Given the description of an element on the screen output the (x, y) to click on. 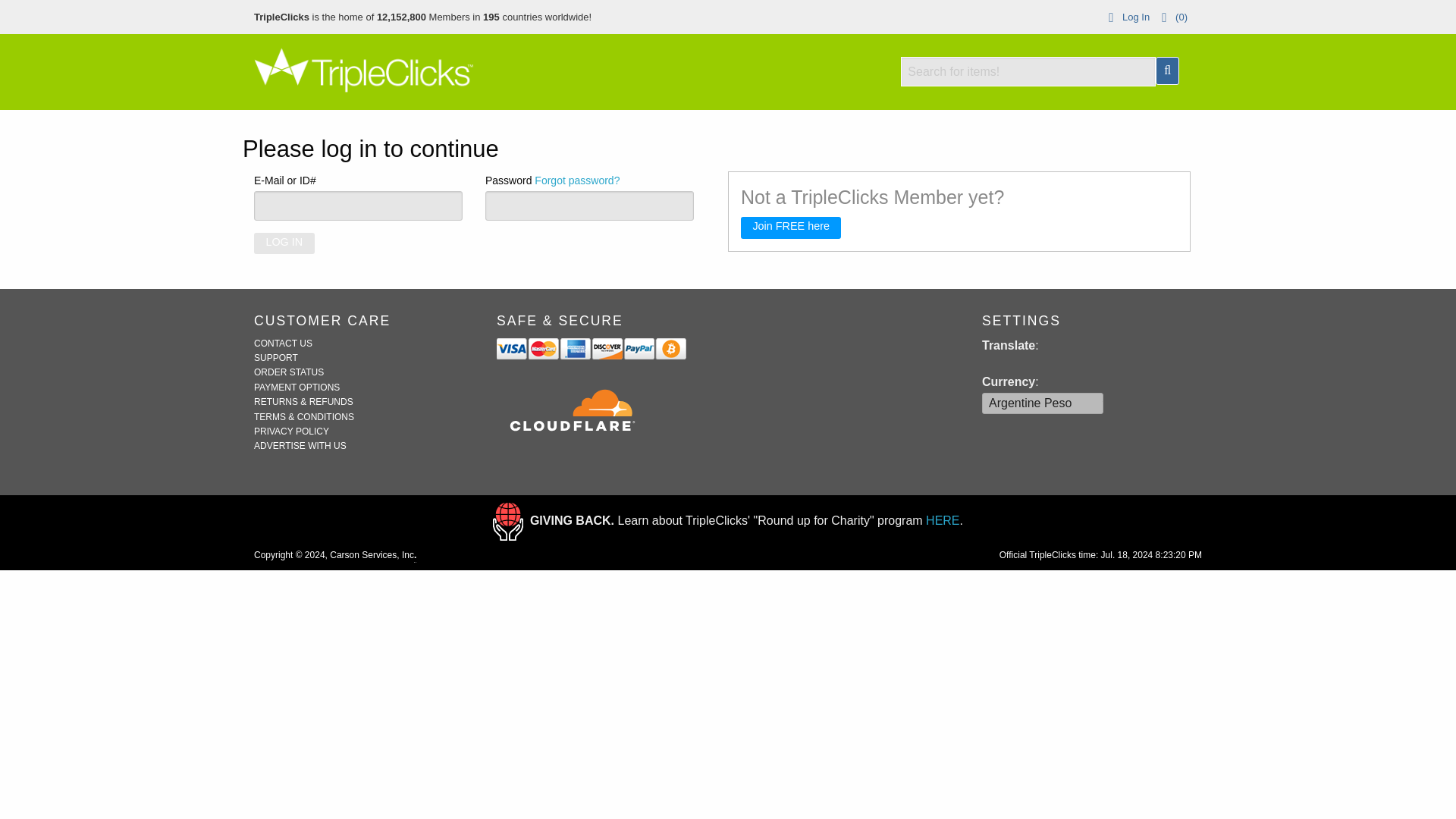
Join FREE here (791, 227)
HERE (942, 520)
SUPPORT (275, 357)
ADVERTISE WITH US (299, 445)
CONTACT US (283, 343)
ORDER STATUS (288, 371)
LOG IN (283, 242)
Log In (1126, 17)
LOG IN (283, 242)
PAYMENT OPTIONS (296, 387)
PRIVACY POLICY (291, 430)
Forgot password? (577, 180)
